Given the description of an element on the screen output the (x, y) to click on. 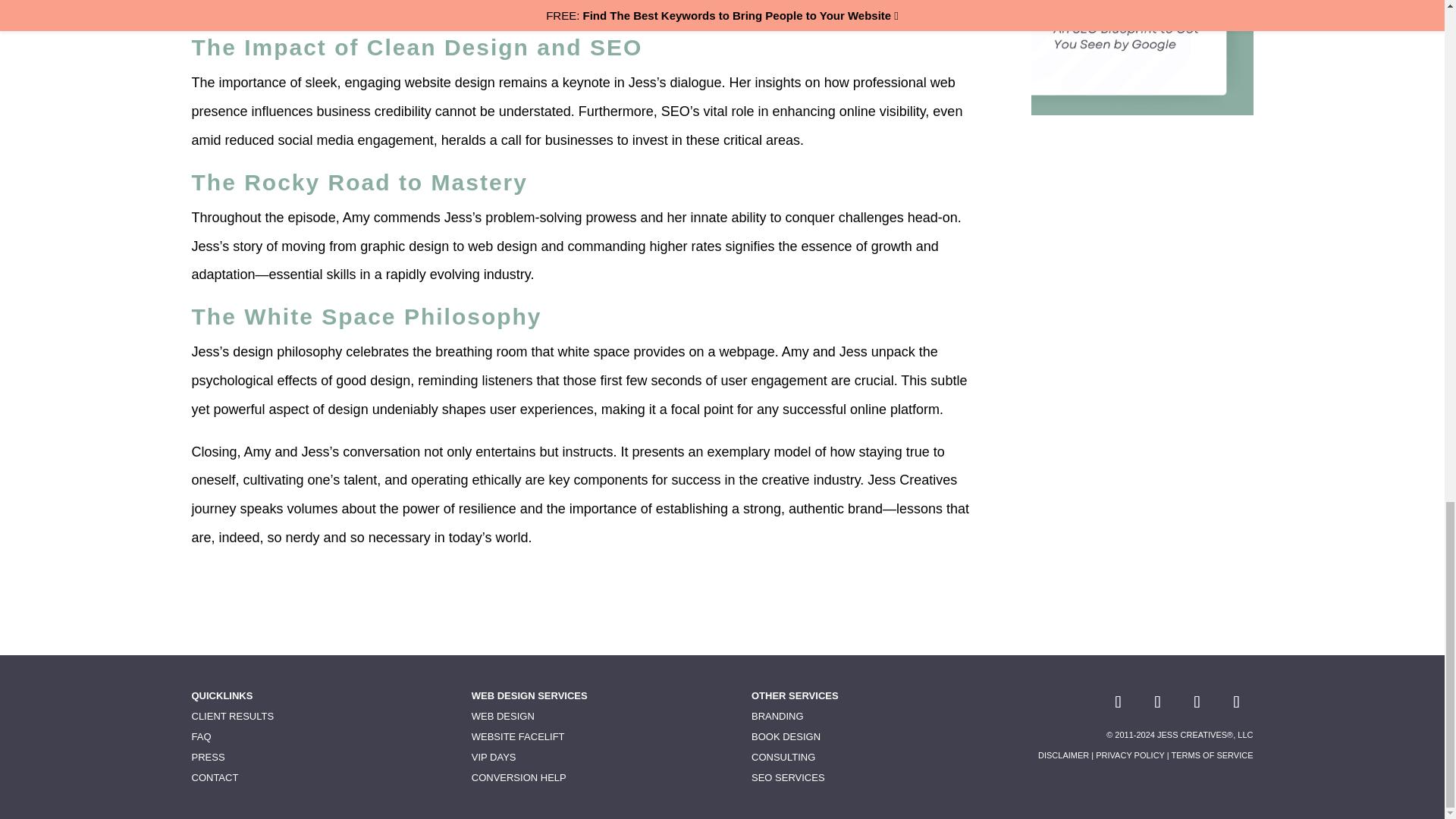
Follow on Facebook (1117, 702)
keyword research guide (1141, 57)
Follow on Youtube (1195, 702)
Follow on LinkedIn (1156, 702)
